Given the description of an element on the screen output the (x, y) to click on. 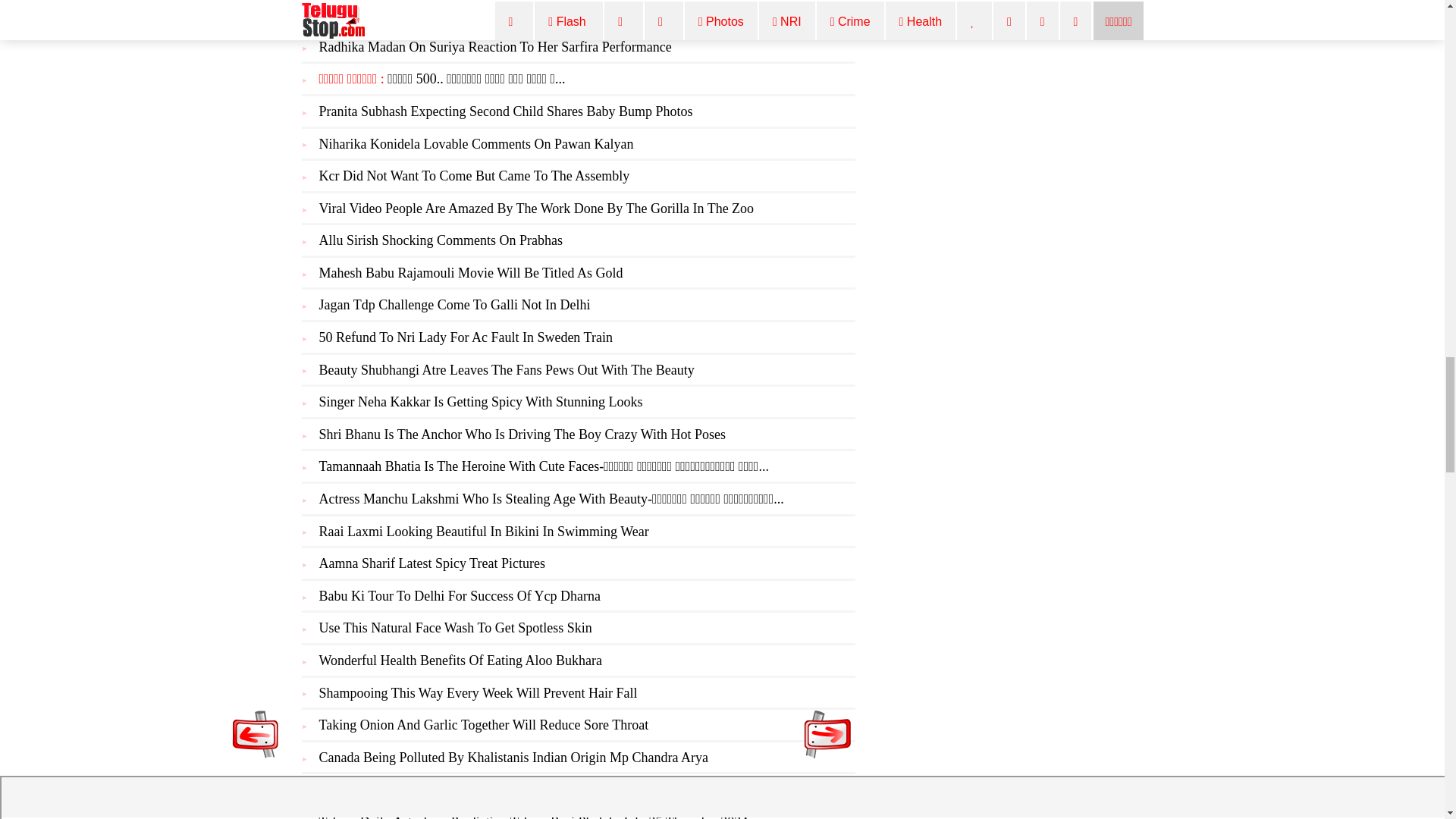
Radhika Madan On Suriya Reaction To Her Sarfira Performance (494, 46)
Bus Driver Tied Up And Assaulted By The Owner (456, 14)
Niharika Konidela Lovable Comments On Pawan Kalyan (475, 143)
